Given the description of an element on the screen output the (x, y) to click on. 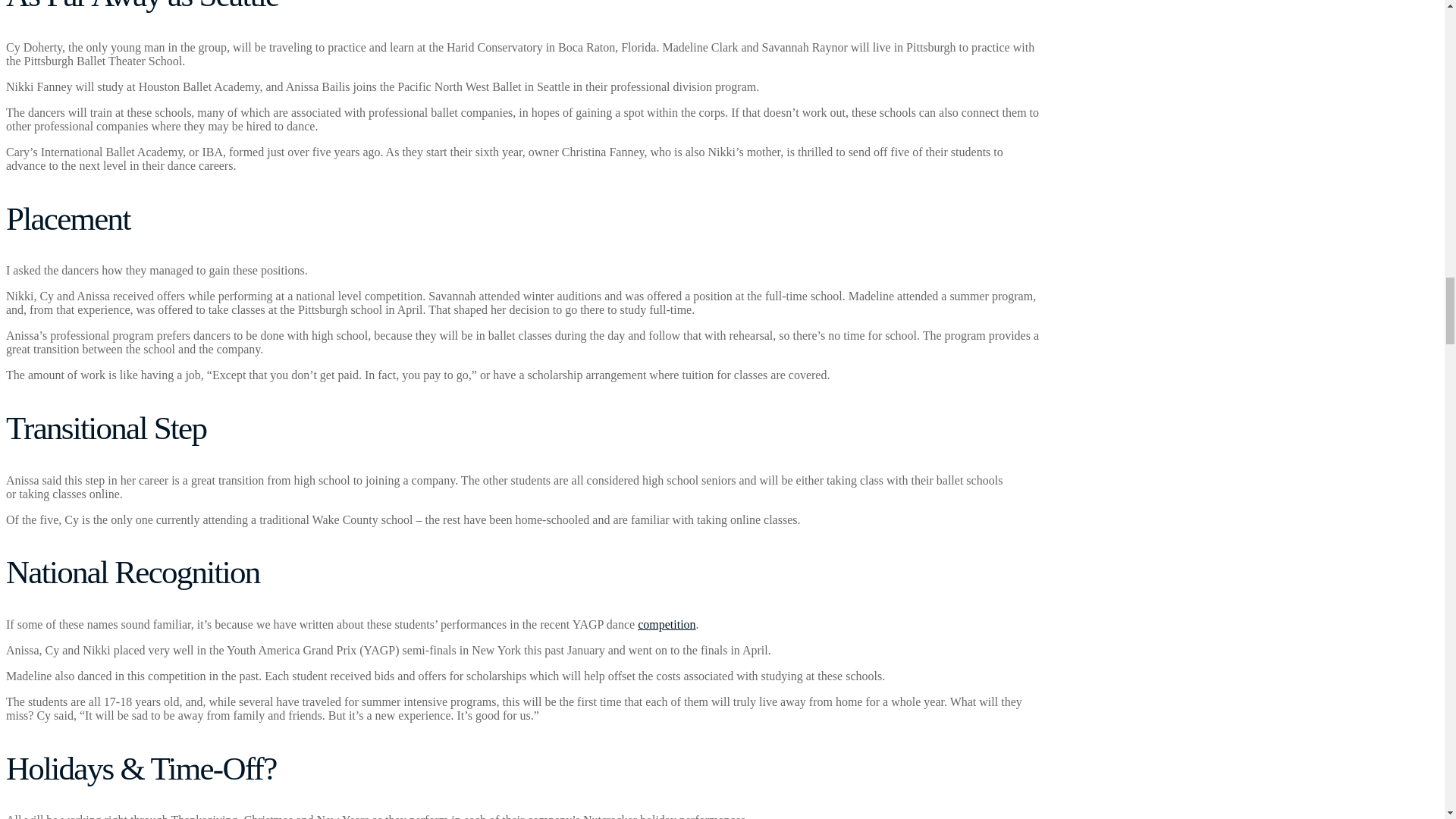
competition (666, 624)
